Given the description of an element on the screen output the (x, y) to click on. 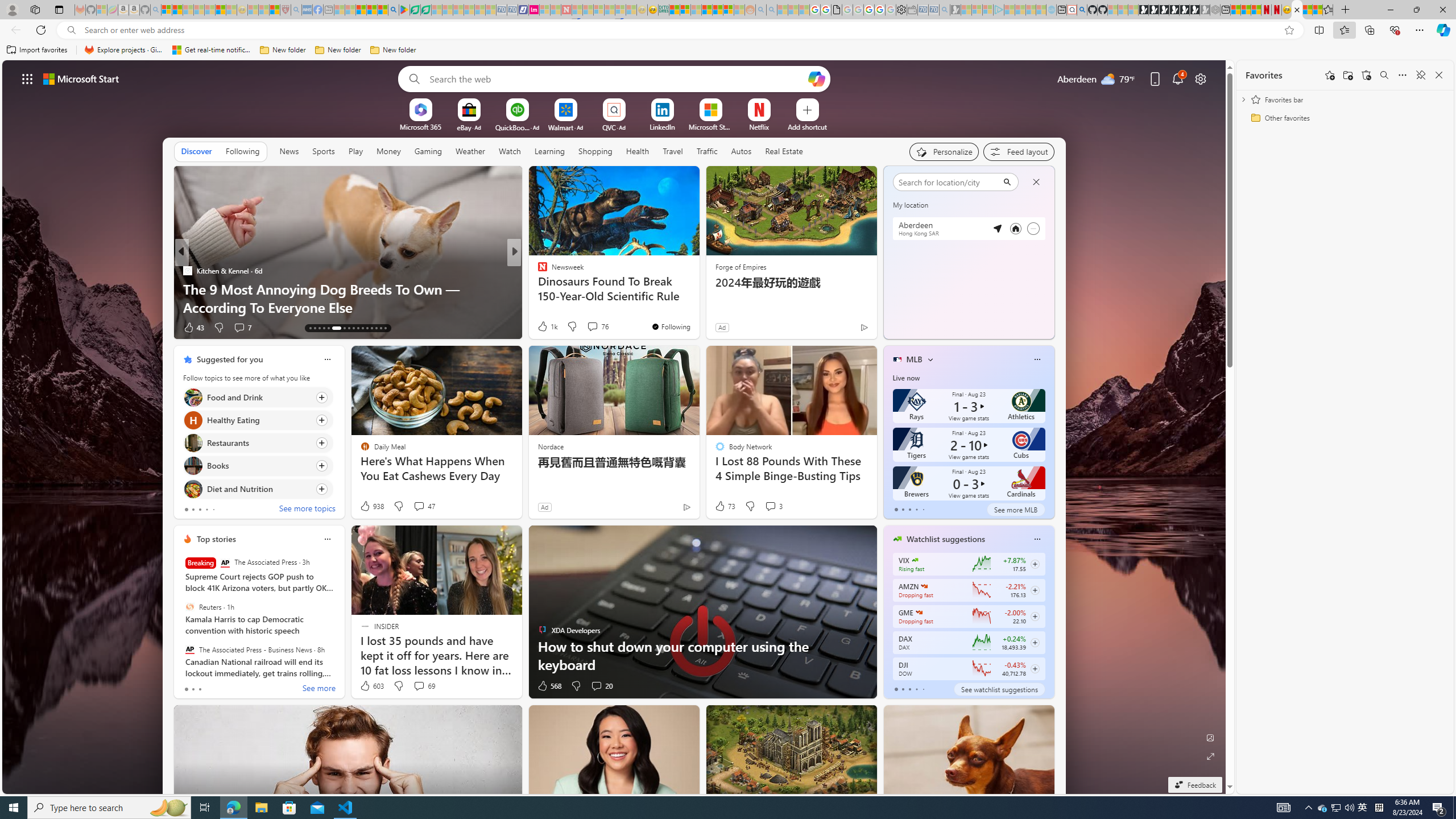
View comments 47 Comment (423, 505)
73 Like (724, 505)
Class: weather-current-precipitation-glyph (1024, 308)
XDA Developers (537, 270)
Autos (740, 151)
45 Like (543, 327)
Click to follow topic Food and Drink (257, 397)
The Associated Press (224, 563)
See watchlist suggestions (999, 689)
